Given the description of an element on the screen output the (x, y) to click on. 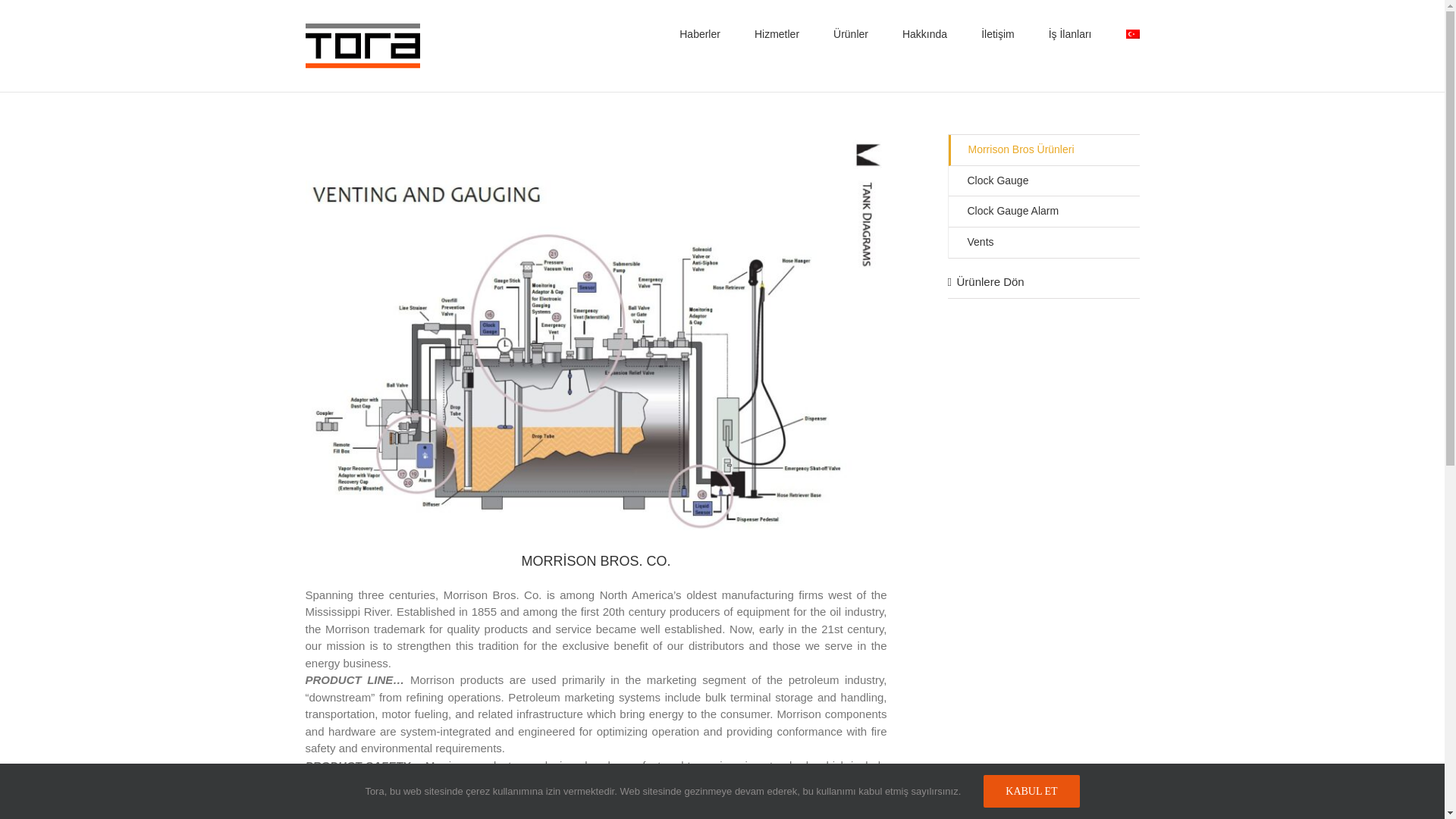
Back to Parent Page (1042, 150)
Clock Gauge Alarm (1042, 211)
Vents (1042, 242)
Haberler (699, 32)
Clock Gauge (1042, 181)
Hizmetler (776, 32)
